Given the description of an element on the screen output the (x, y) to click on. 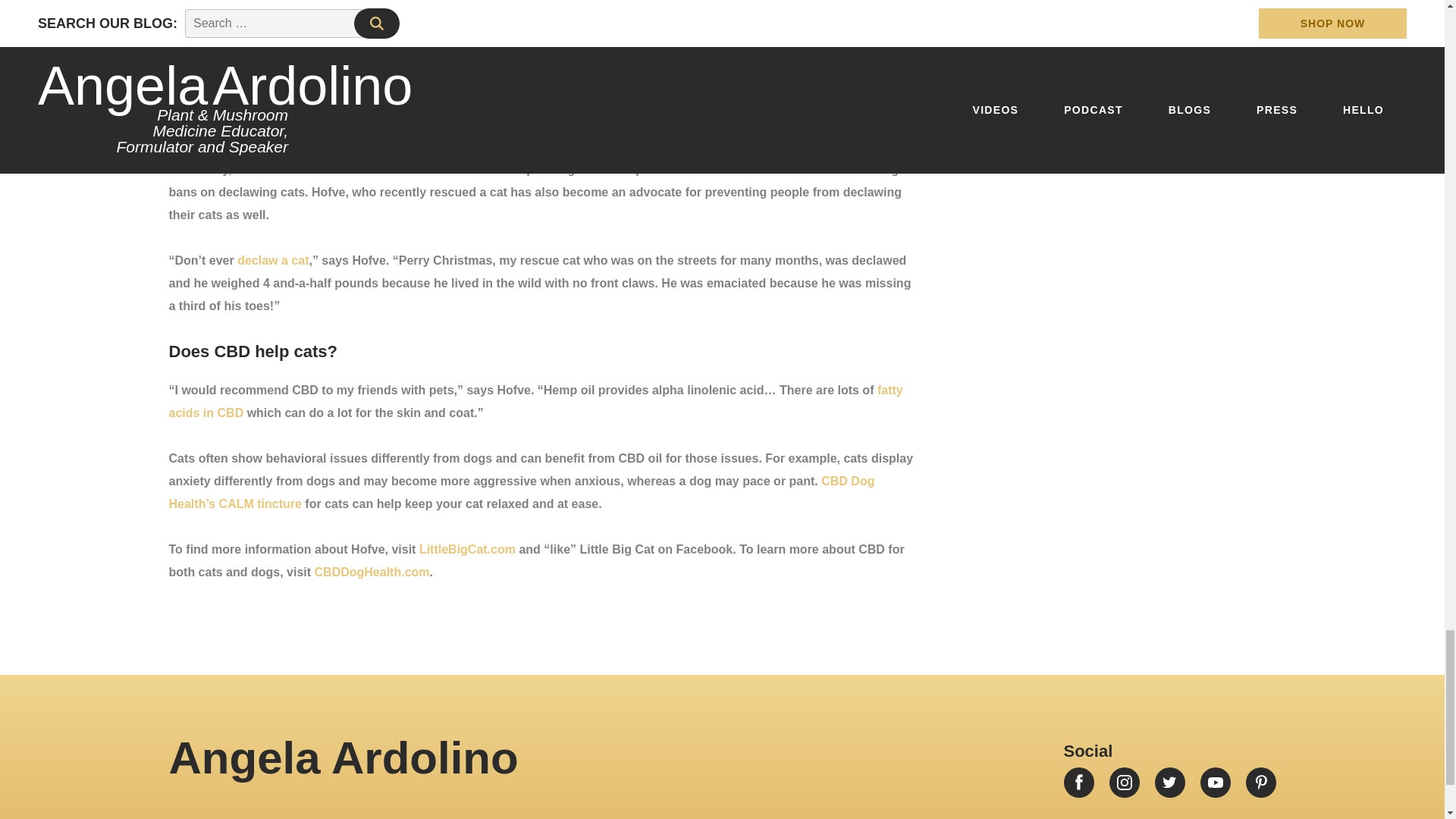
Follow us on instagram (1123, 782)
declaw a cat (272, 259)
LittleBigCat.com (467, 549)
Follow us on Facebook (1077, 782)
Follow us on twitter (1169, 782)
CBDDogHealth.com (371, 571)
fatty acids in CBD (535, 401)
